Given the description of an element on the screen output the (x, y) to click on. 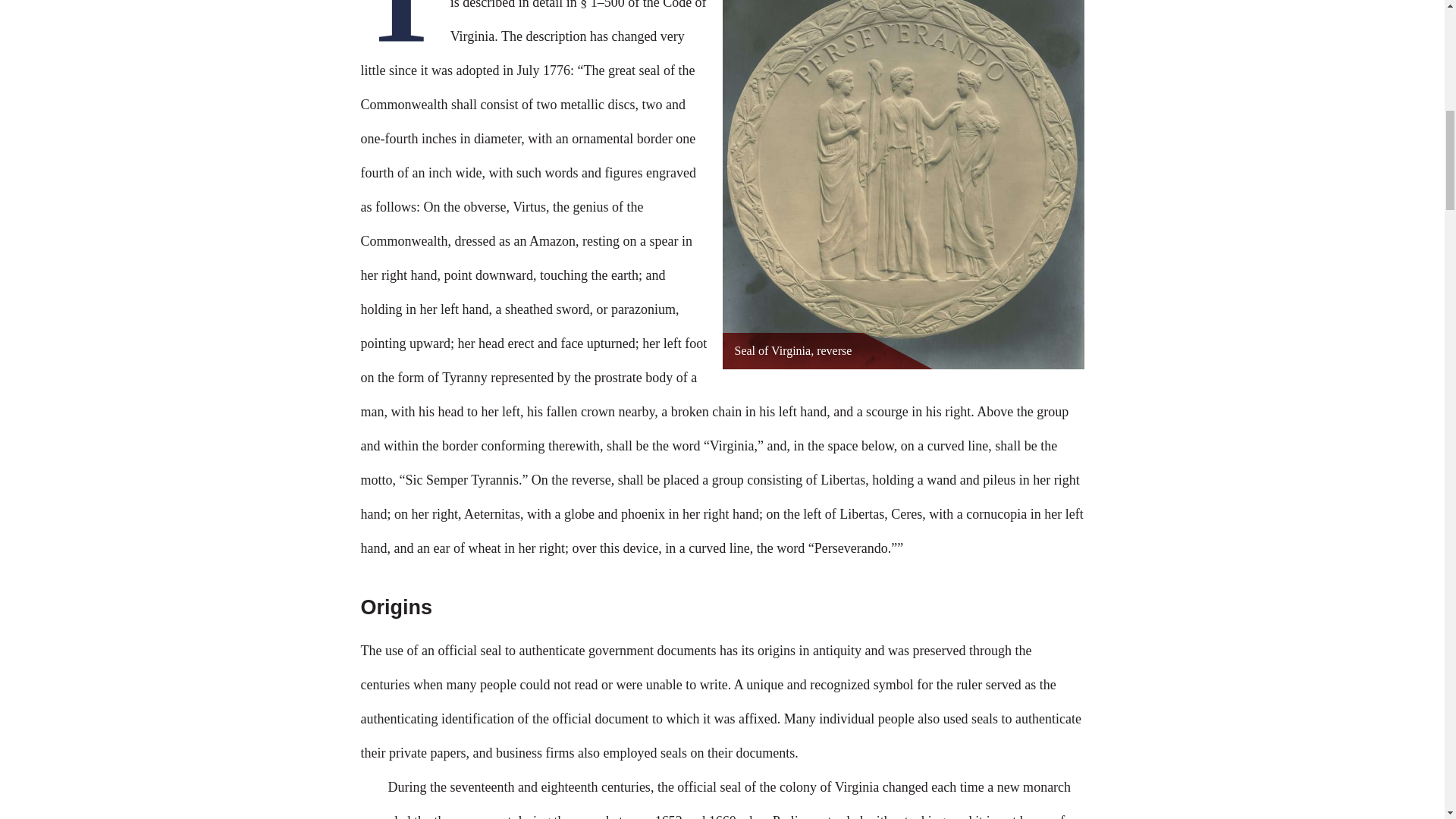
Seal of Virginia, reverse (792, 350)
